Given the description of an element on the screen output the (x, y) to click on. 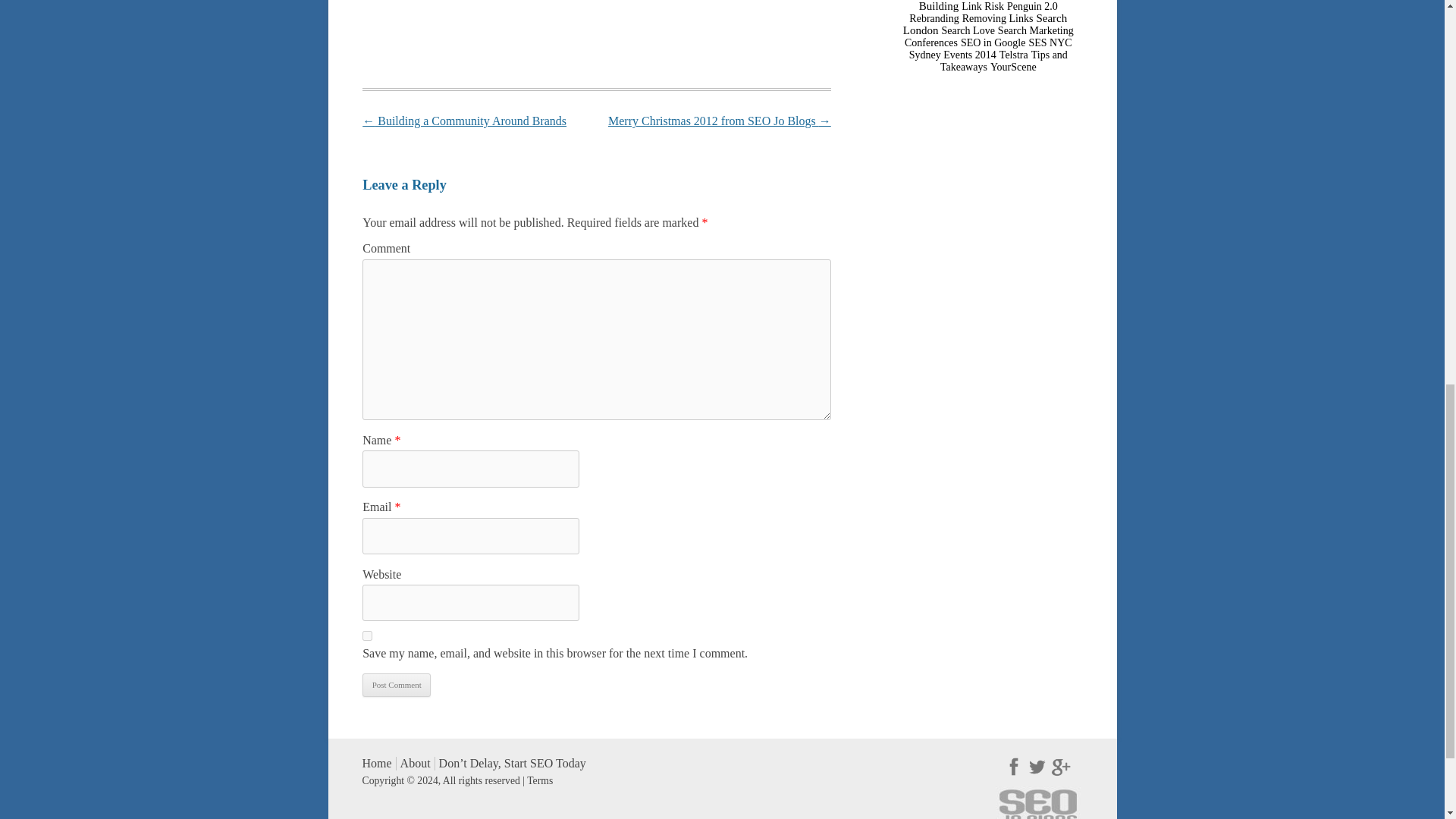
Post Comment (396, 684)
yes (367, 635)
Post Comment (396, 684)
